Given the description of an element on the screen output the (x, y) to click on. 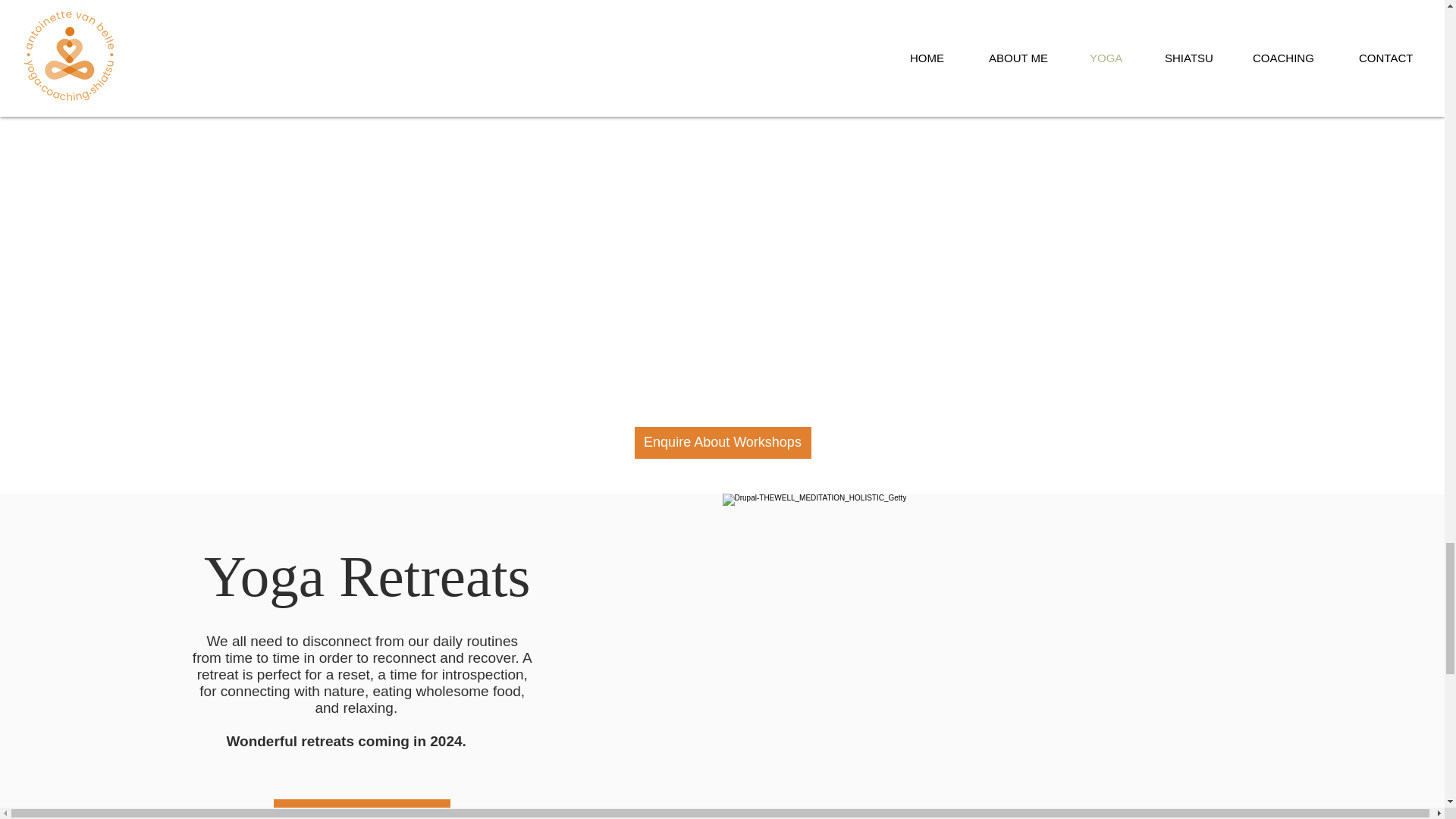
Enquire About Retreats (361, 809)
Enquire About Workshops (721, 442)
